Given the description of an element on the screen output the (x, y) to click on. 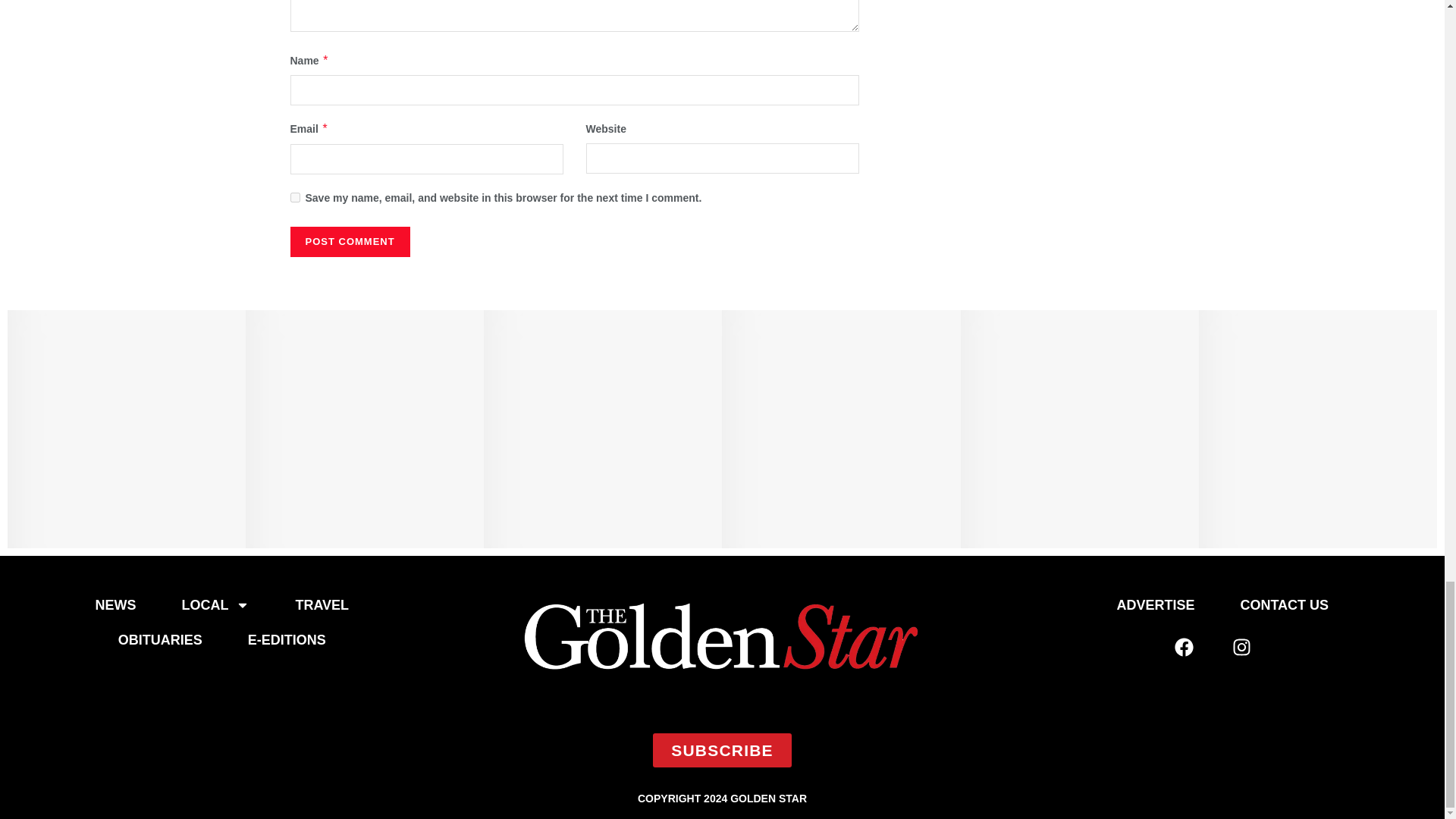
yes (294, 197)
Post Comment (349, 241)
